Given the description of an element on the screen output the (x, y) to click on. 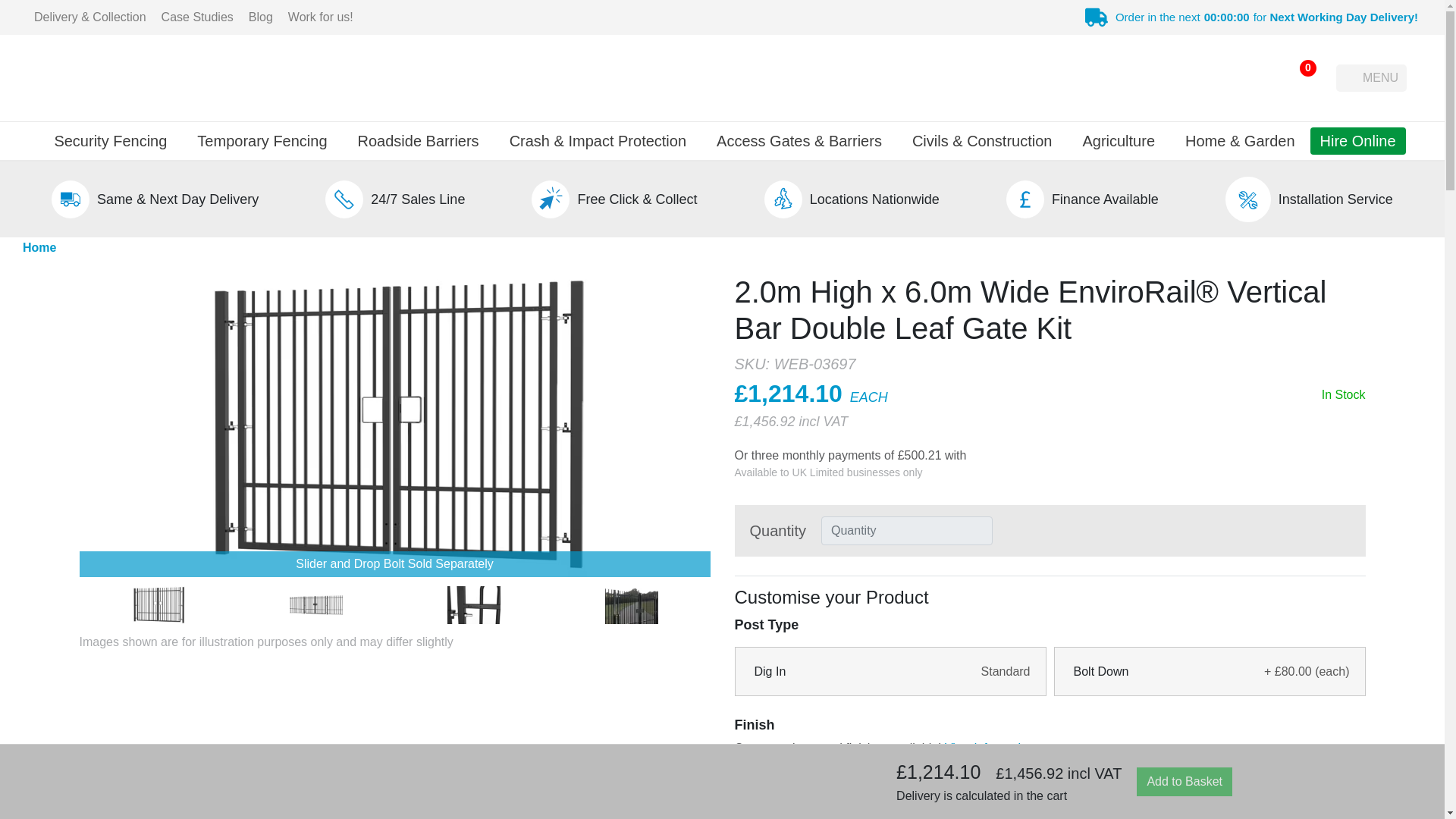
Work for us! (321, 17)
Case Studies (197, 17)
Blog (261, 17)
Home (39, 248)
Add to Basket (1184, 781)
Installation Service (1335, 199)
Locations Nationwide (874, 199)
Finance Available (1104, 199)
0 (1297, 77)
View information (988, 748)
MENU (1371, 77)
